Given the description of an element on the screen output the (x, y) to click on. 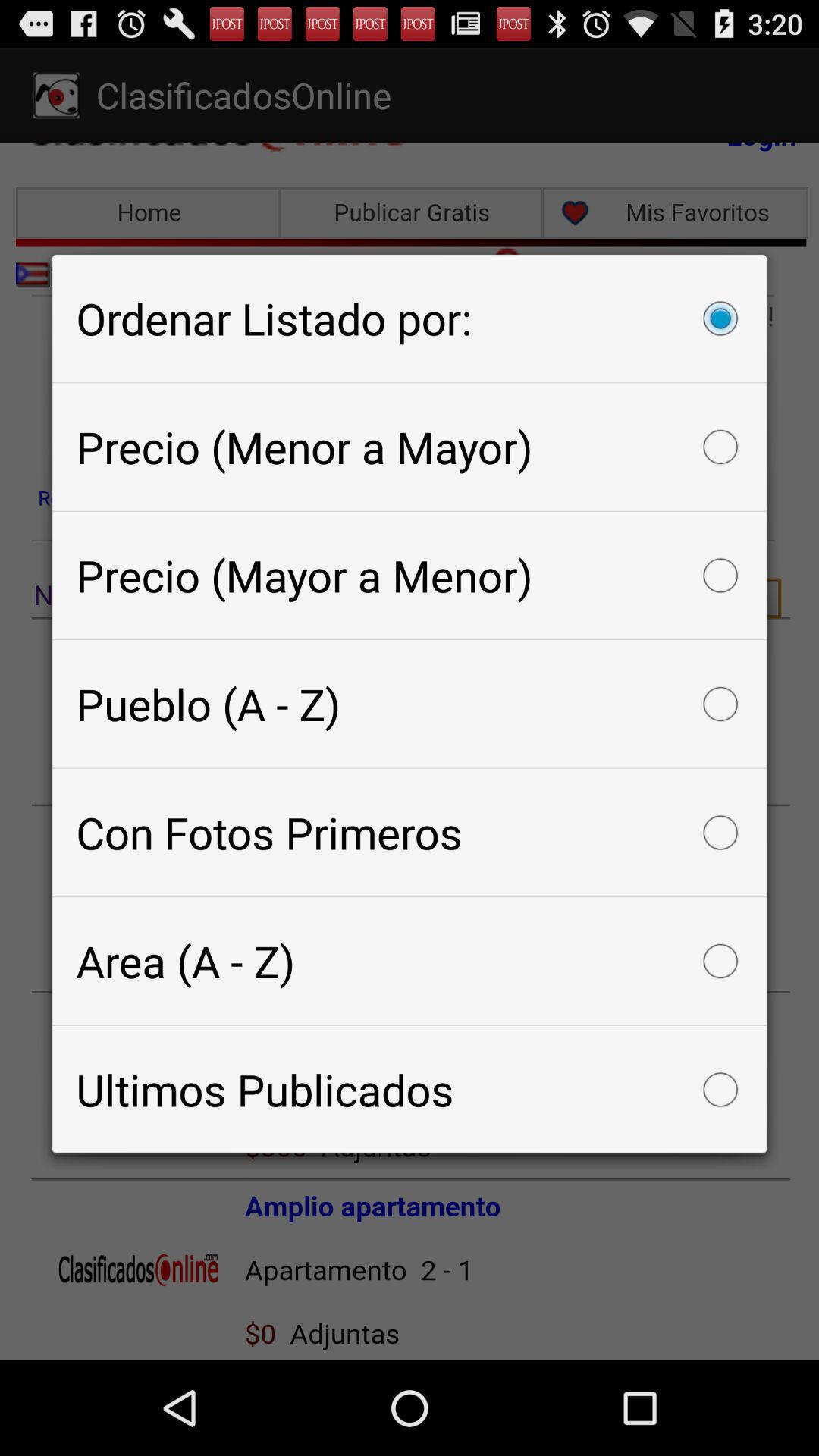
turn off ultimos publicados (409, 1089)
